Given the description of an element on the screen output the (x, y) to click on. 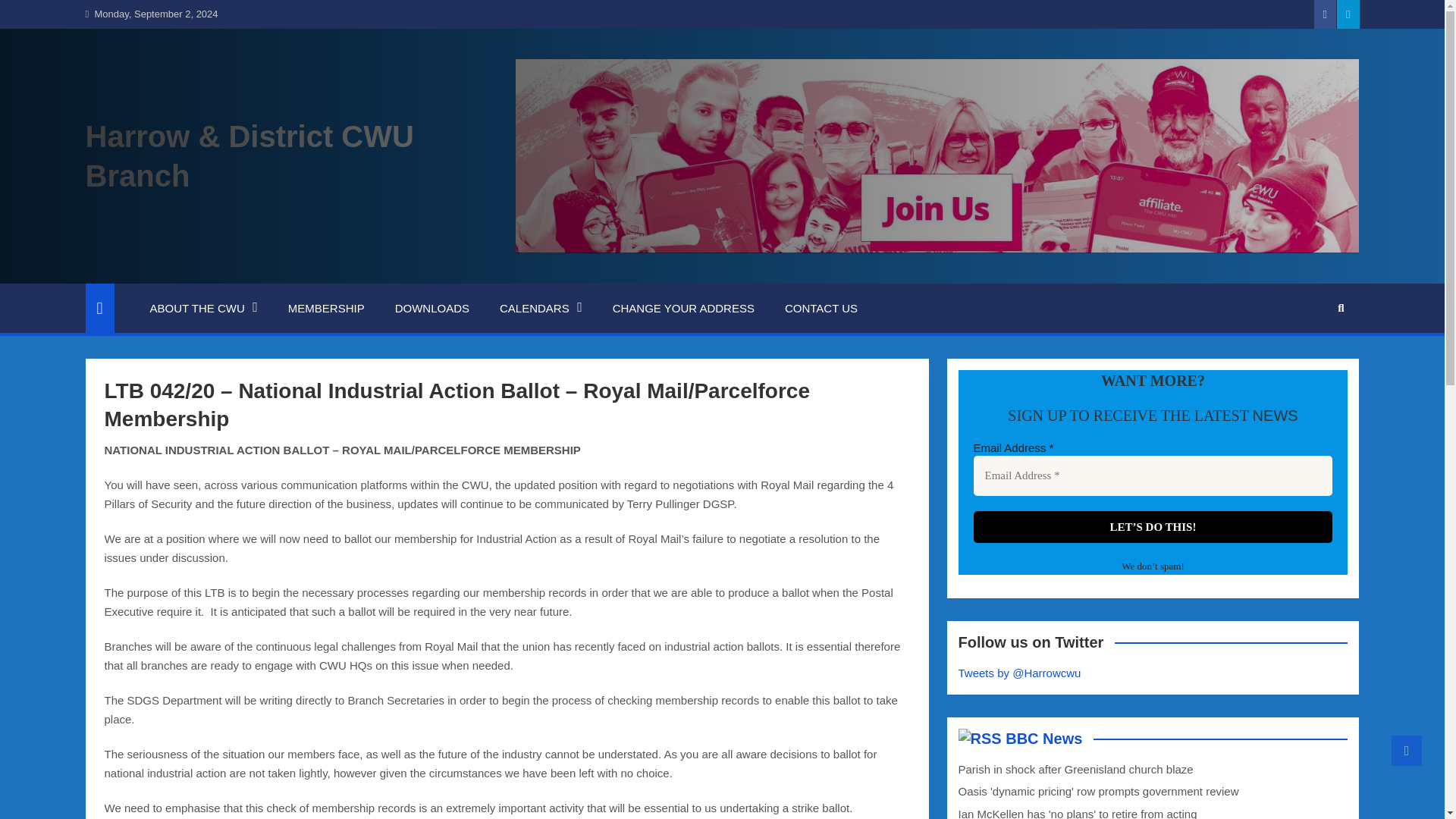
Go to Top (1406, 750)
CALENDARS (540, 308)
BBC News (1043, 738)
CHANGE YOUR ADDRESS (683, 308)
MEMBERSHIP (326, 308)
ABOUT THE CWU (204, 308)
Email Address (1153, 475)
CONTACT US (821, 308)
Ian McKellen has 'no plans' to retire from acting (1077, 813)
DOWNLOADS (432, 308)
